Given the description of an element on the screen output the (x, y) to click on. 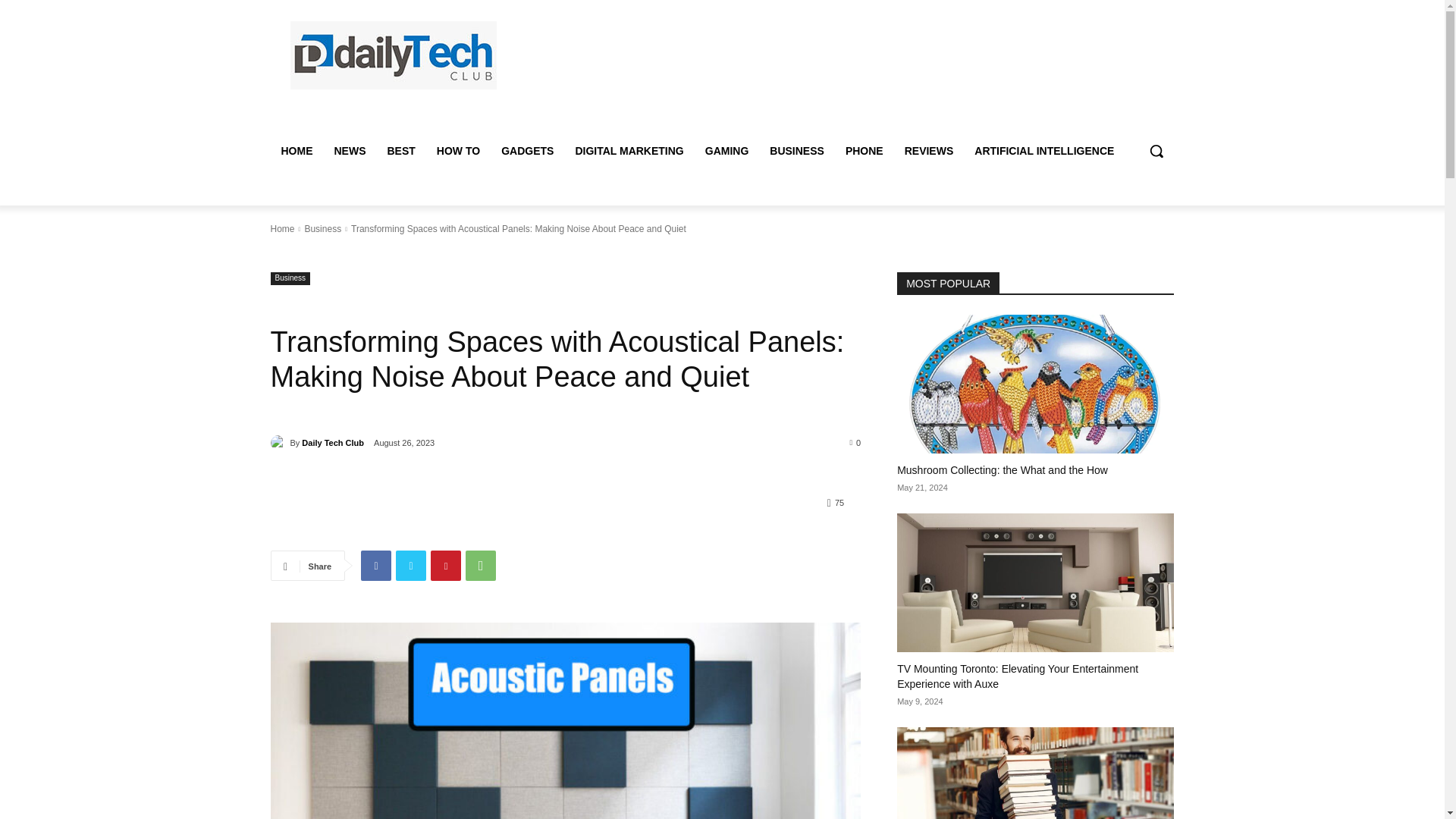
Facebook (376, 565)
NEWS (349, 150)
HOME (296, 150)
BEST (400, 150)
Pinterest (445, 565)
Daily Tech Club (279, 442)
Twitter (411, 565)
View all posts in Business (322, 228)
WhatsApp (480, 565)
